Given the description of an element on the screen output the (x, y) to click on. 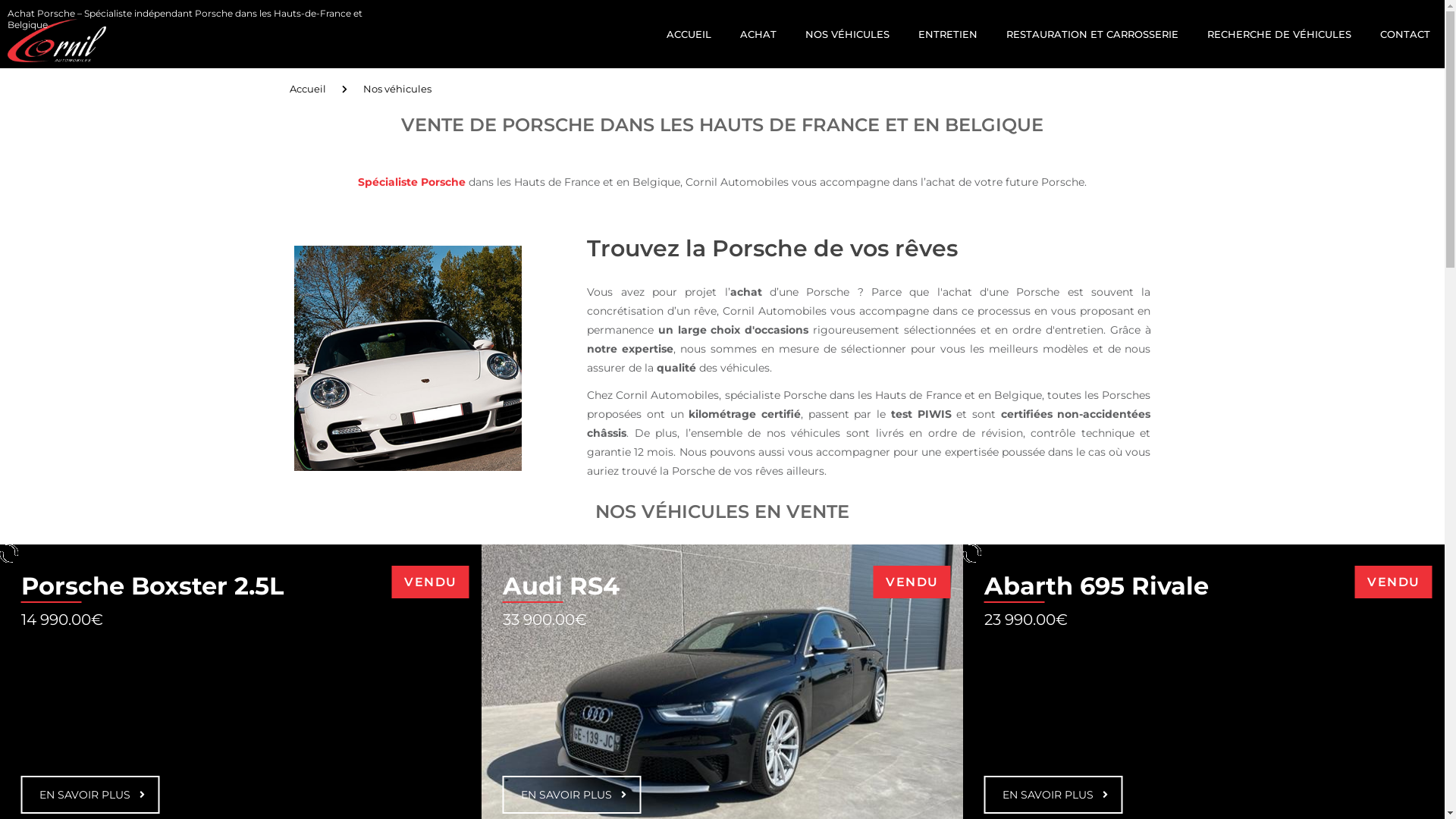
EN SAVOIR PLUS Element type: text (1053, 794)
Cornil Automobiles Element type: hover (53, 31)
CONTACT Element type: text (1405, 33)
EN SAVOIR PLUS Element type: text (571, 794)
RESTAURATION ET CARROSSERIE Element type: text (1092, 33)
ENTRETIEN Element type: text (947, 33)
Accueil Element type: text (307, 88)
ACHAT Element type: text (758, 33)
EN SAVOIR PLUS Element type: text (90, 794)
ACCUEIL Element type: text (688, 33)
